Given the description of an element on the screen output the (x, y) to click on. 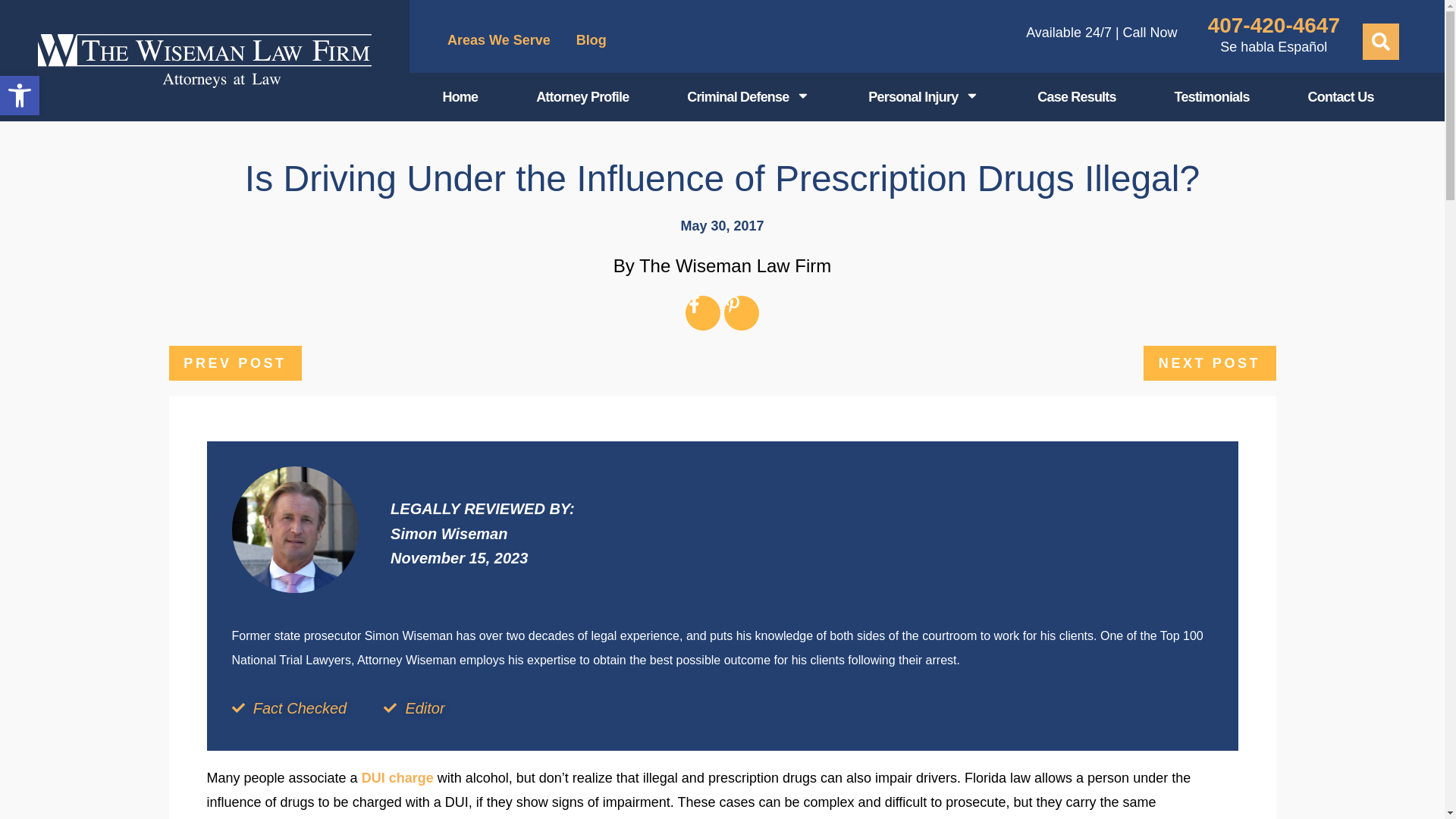
Attorney Profile (582, 96)
Criminal Defense (748, 96)
Accessibility Tools (19, 95)
Accessibility Tools (19, 95)
Home (459, 96)
407-420-4647 (1273, 24)
Blog (19, 95)
Areas We Serve (591, 39)
